Given the description of an element on the screen output the (x, y) to click on. 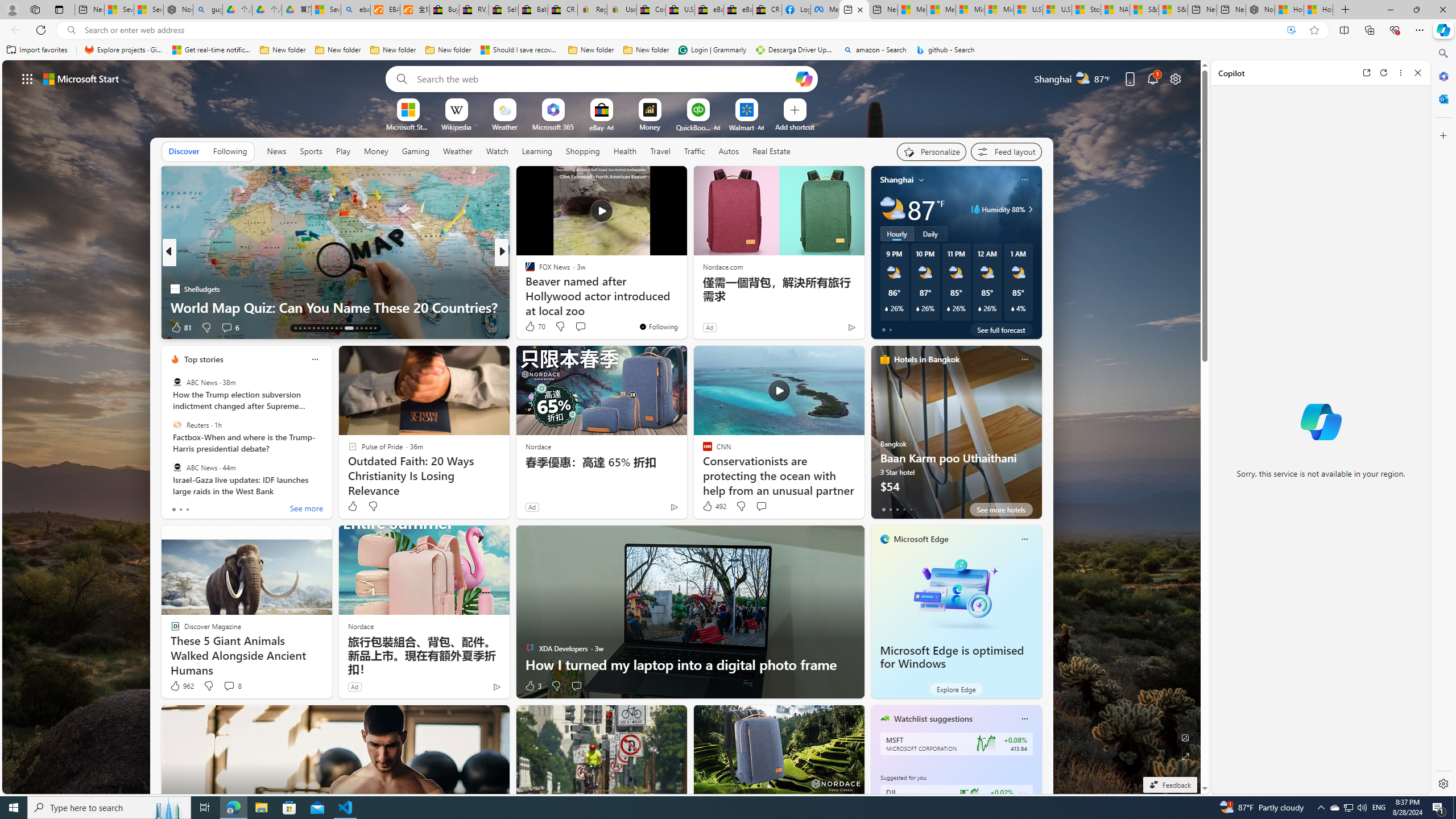
tab-3 (903, 509)
AutomationID: tab-20 (327, 328)
App bar (728, 29)
U.S. State Privacy Disclosures - eBay Inc. (679, 9)
New folder (646, 49)
2 hours of Extreme Shark Encounters (684, 307)
App launcher (27, 78)
Restore (1416, 9)
S&P 500, Nasdaq end lower, weighed by Nvidia dip | Watch (1173, 9)
